Given the description of an element on the screen output the (x, y) to click on. 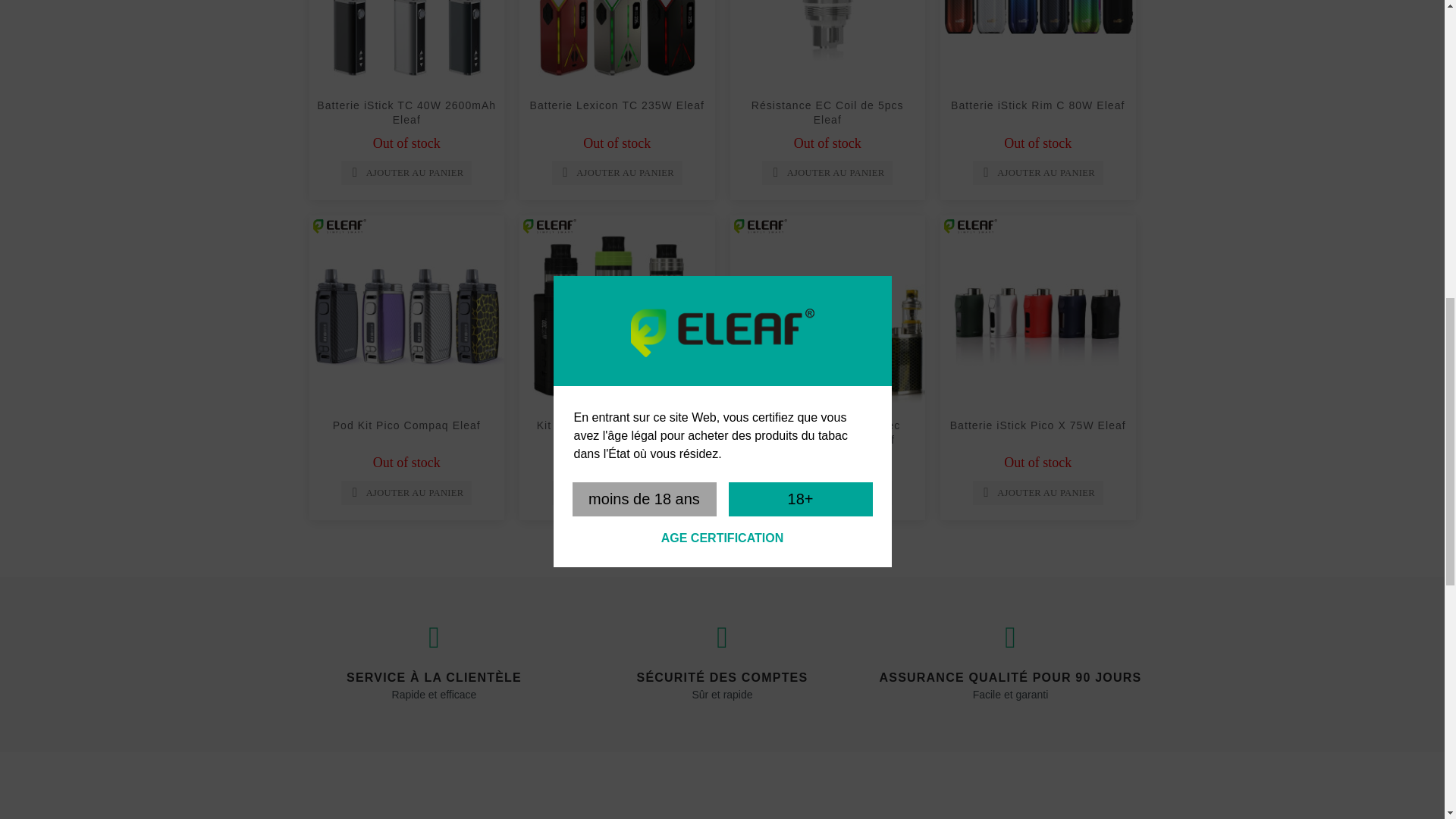
Batterie iStick TC 40W 2600mAh Eleaf (406, 112)
Batterie iStick TC 40W 2600mAh Eleaf (406, 45)
Batterie Lexicon TC 235W Eleaf (616, 45)
Batterie Lexicon TC 235W Eleaf (616, 105)
